Given the description of an element on the screen output the (x, y) to click on. 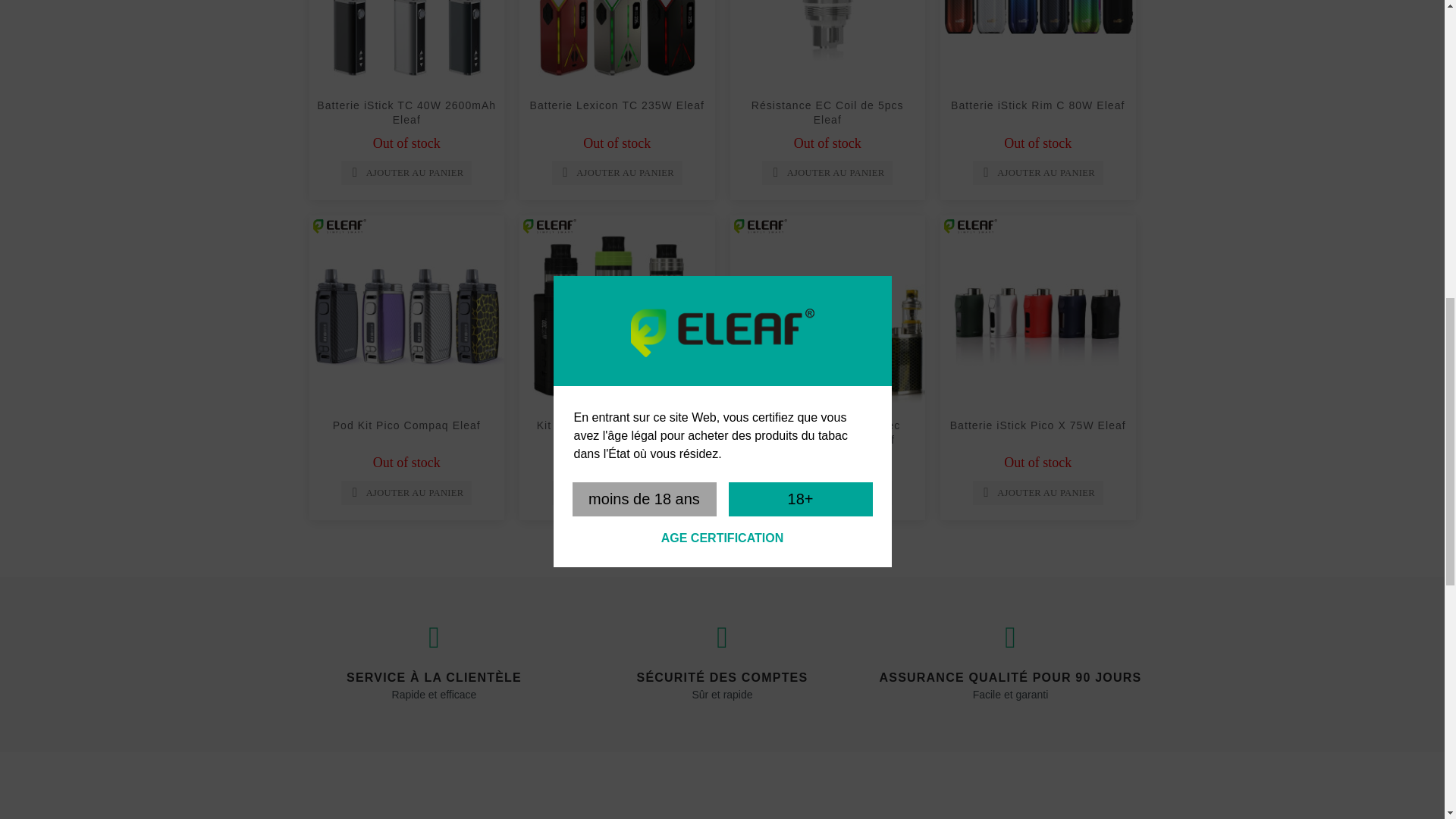
Batterie iStick TC 40W 2600mAh Eleaf (406, 112)
Batterie iStick TC 40W 2600mAh Eleaf (406, 45)
Batterie Lexicon TC 235W Eleaf (616, 45)
Batterie Lexicon TC 235W Eleaf (616, 105)
